Given the description of an element on the screen output the (x, y) to click on. 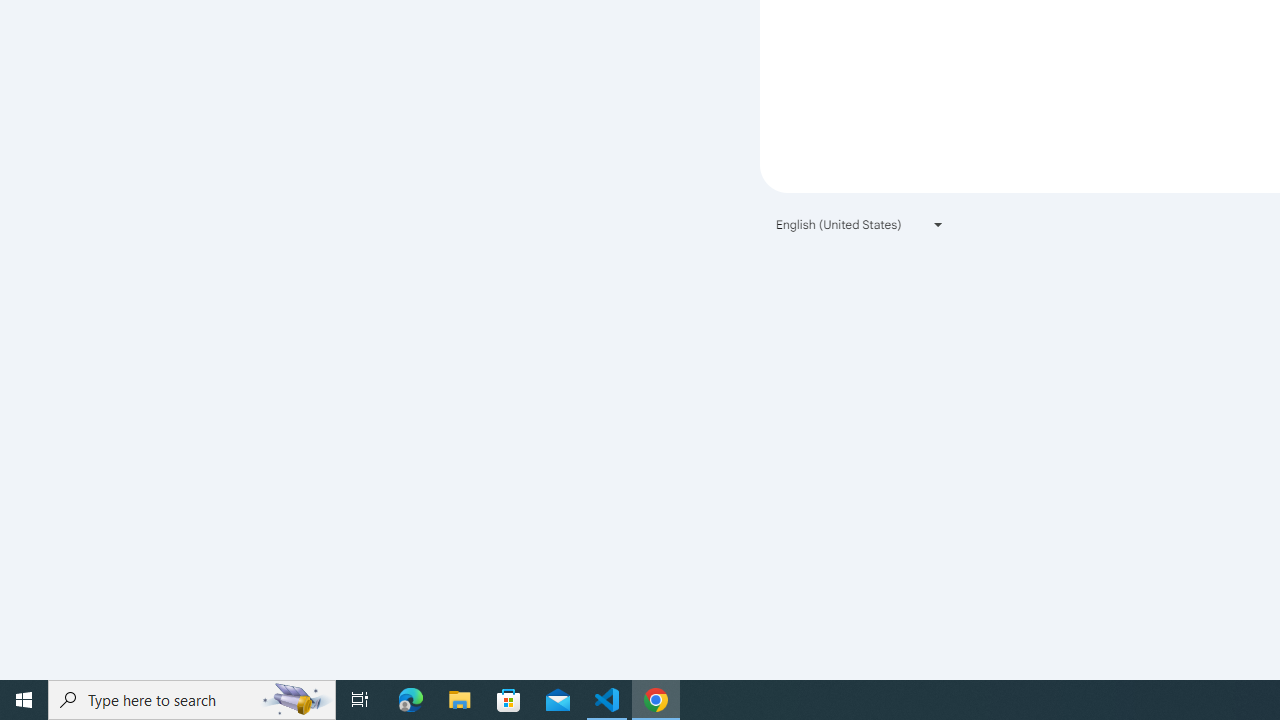
English (United States) (860, 224)
